Given the description of an element on the screen output the (x, y) to click on. 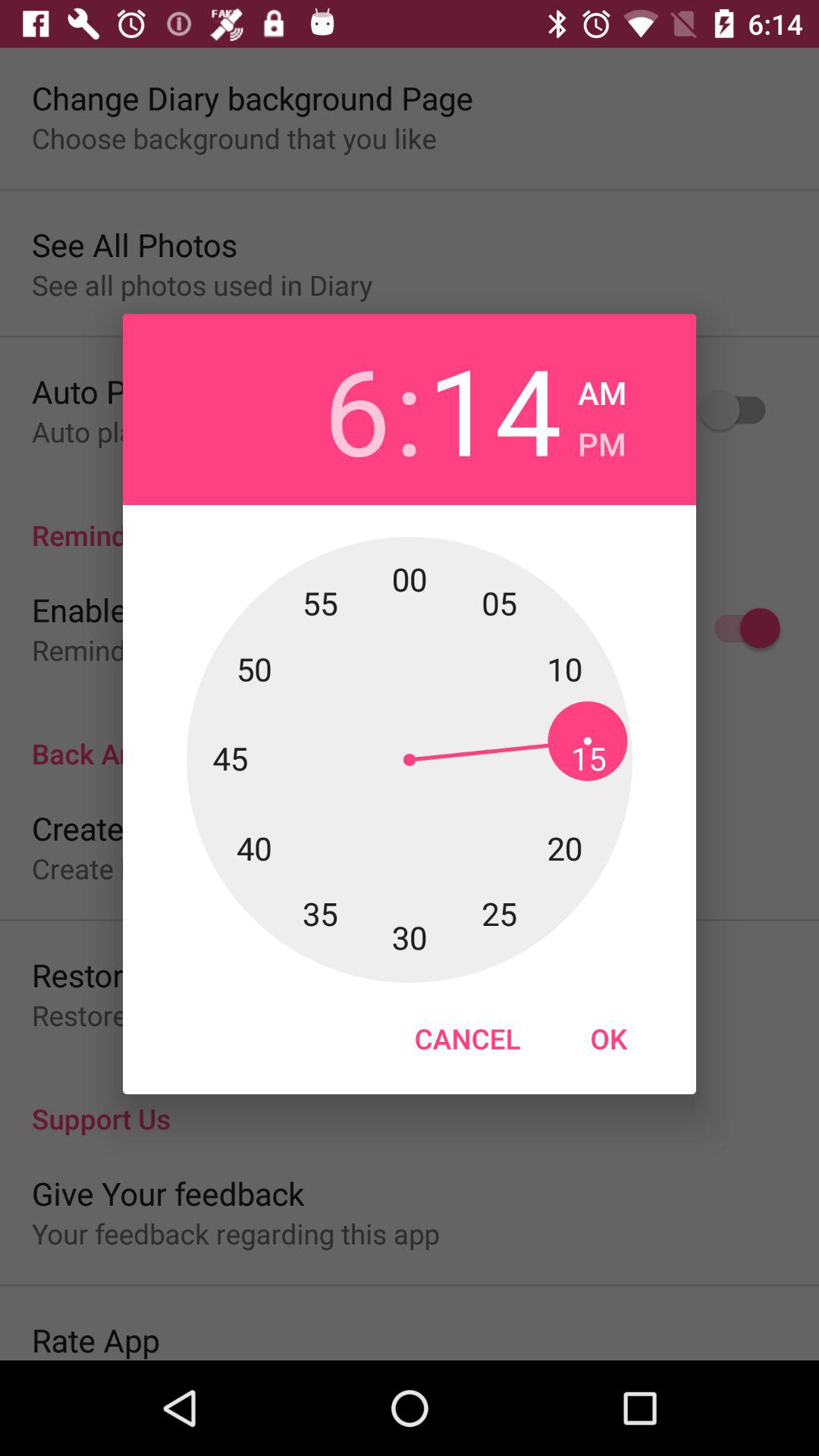
open the app next to the : (494, 408)
